Given the description of an element on the screen output the (x, y) to click on. 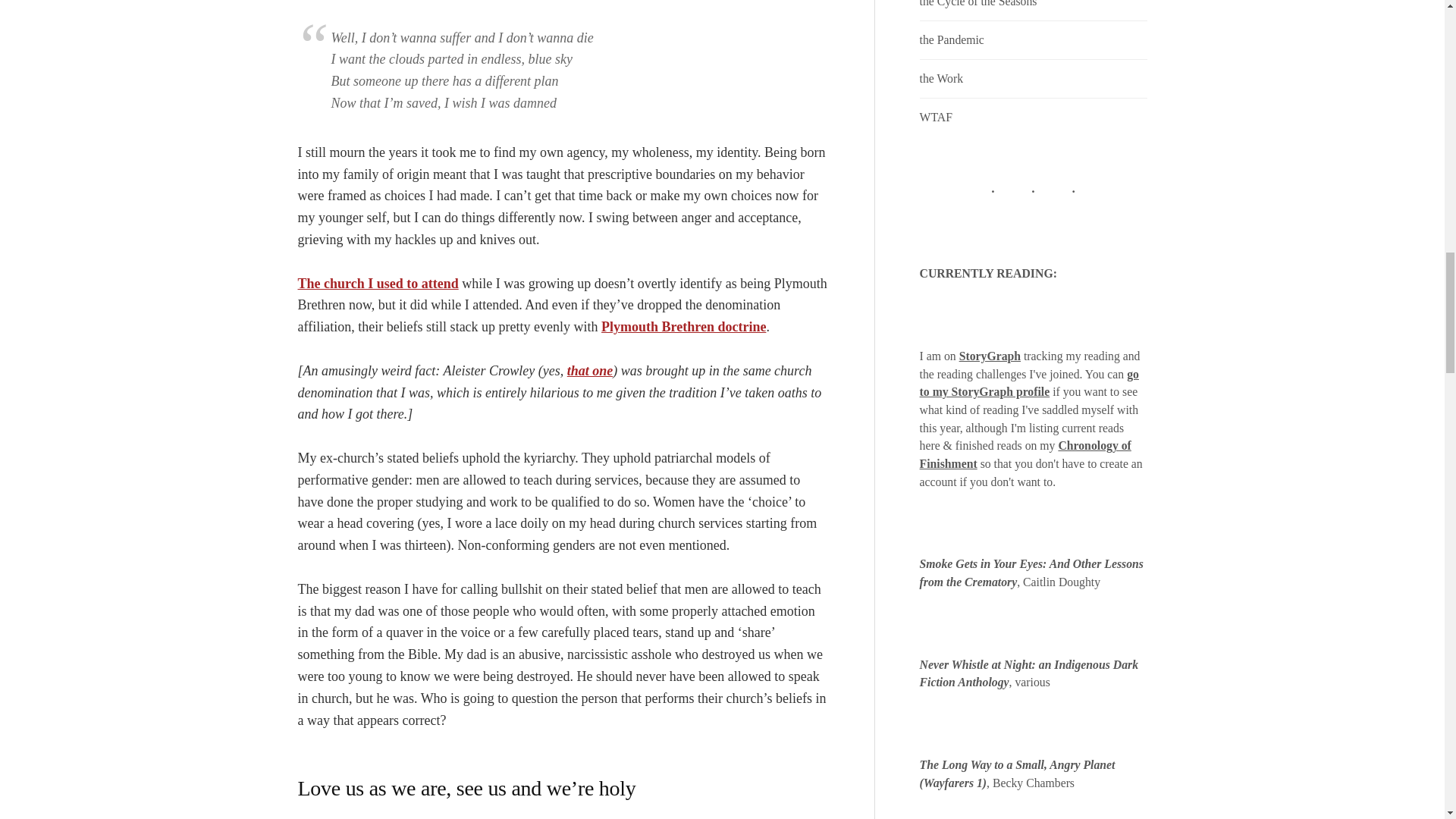
that one (589, 370)
The church I used to attend (377, 283)
Plymouth Brethren doctrine (683, 326)
